Given the description of an element on the screen output the (x, y) to click on. 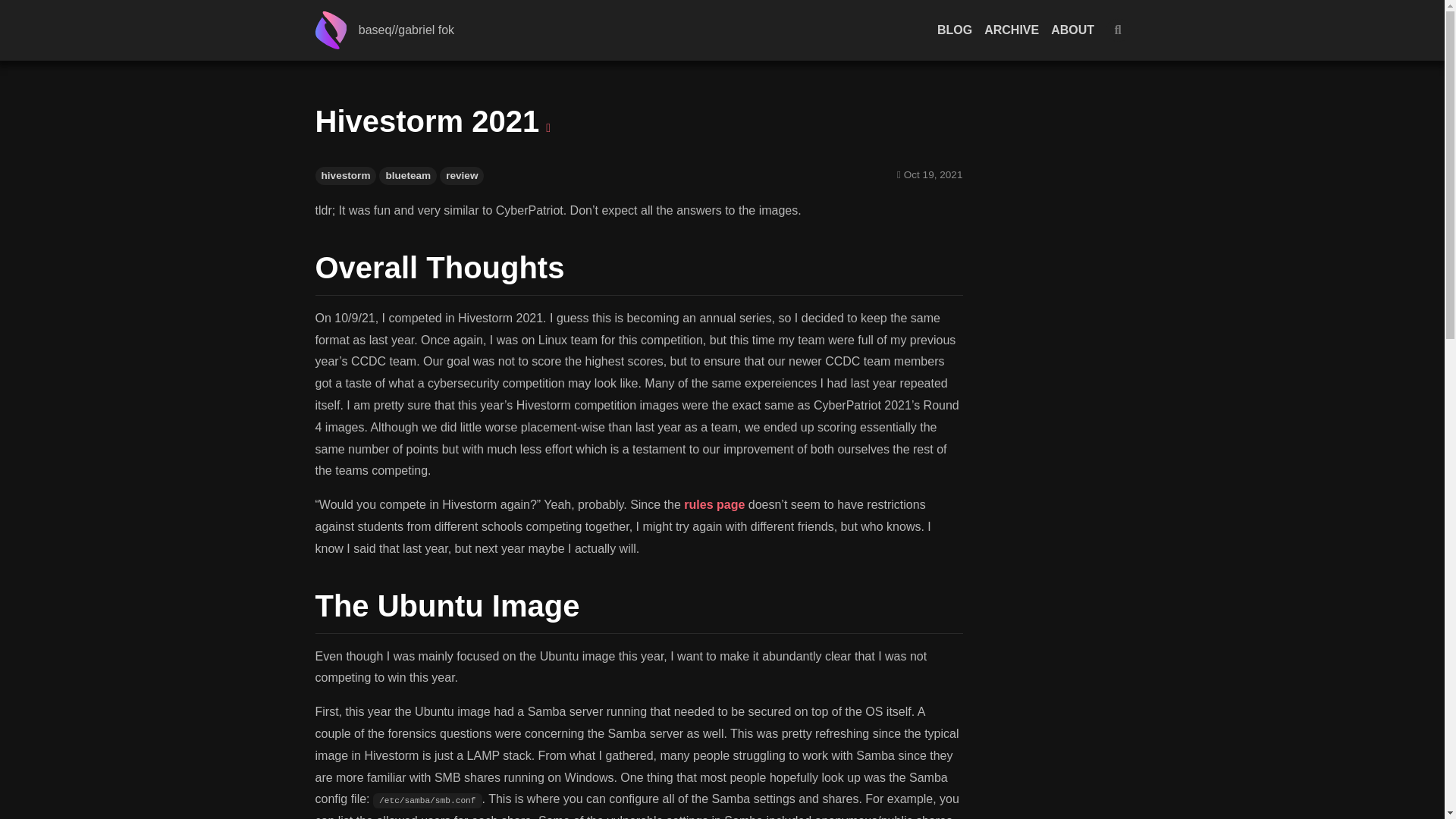
hivestorm (346, 176)
BLOG (954, 29)
Home (336, 30)
review (461, 176)
ABOUT (1072, 29)
blueteam (407, 176)
rules page (714, 504)
ARCHIVE (1011, 29)
